Given the description of an element on the screen output the (x, y) to click on. 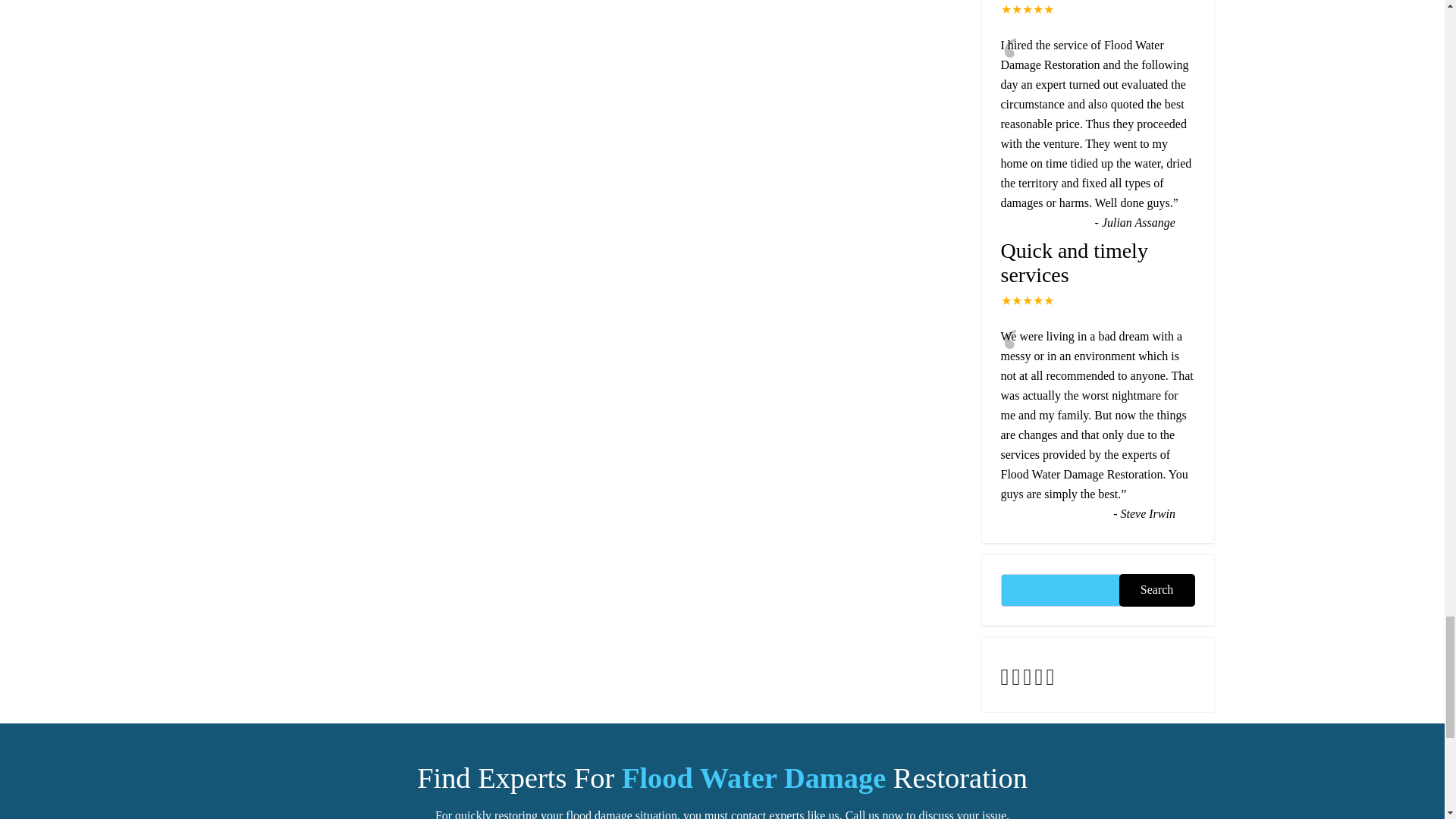
Search (1157, 590)
